Given the description of an element on the screen output the (x, y) to click on. 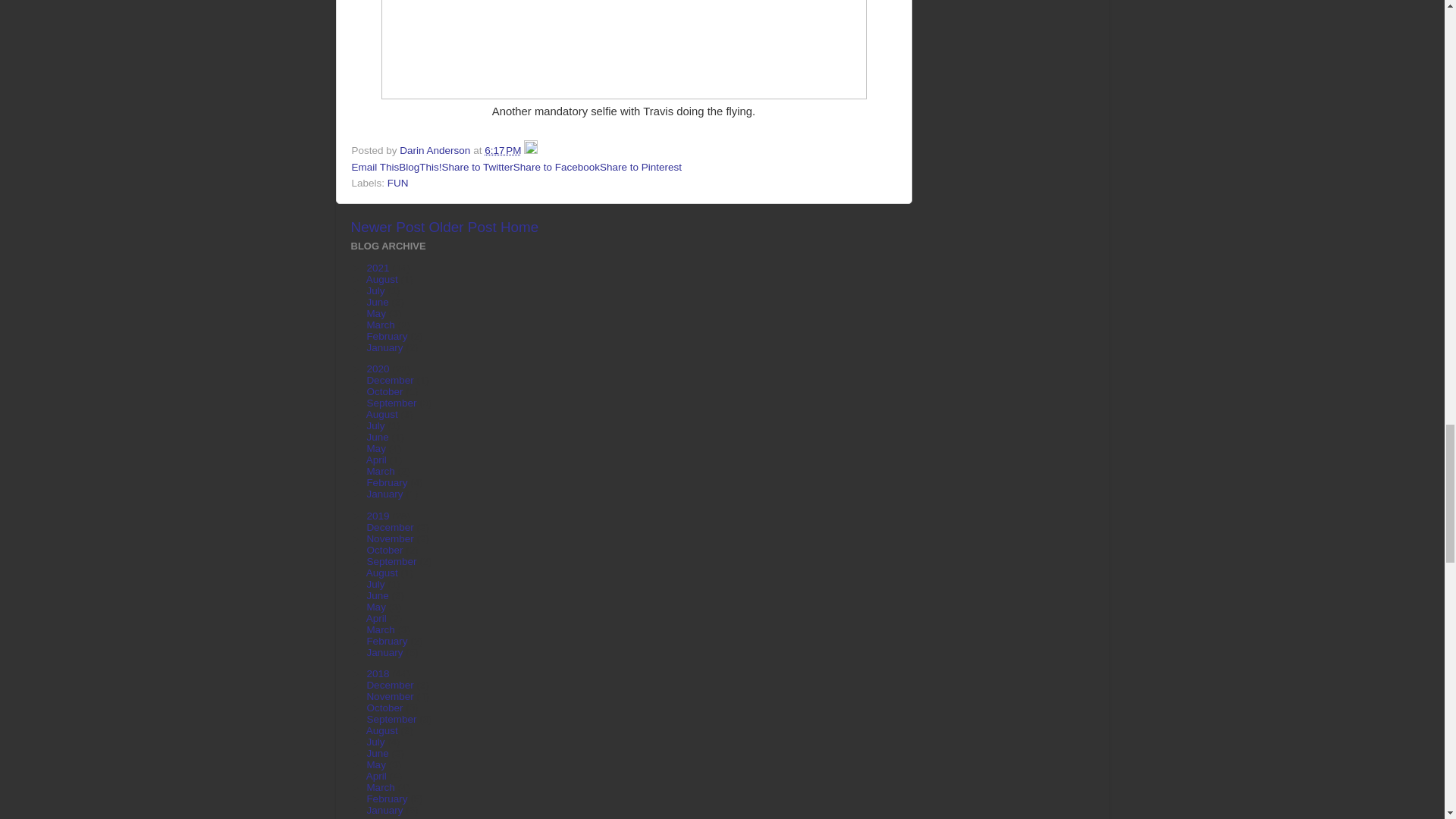
2020 (378, 368)
Share to Pinterest (640, 166)
Share to Facebook (556, 166)
FUN (398, 183)
Edit Post (530, 150)
Older Post (462, 227)
Darin Anderson (435, 150)
February (388, 336)
Older Post (462, 227)
Newer Post (387, 227)
author profile (435, 150)
March (381, 324)
August (383, 279)
June (378, 301)
2021 (378, 267)
